Given the description of an element on the screen output the (x, y) to click on. 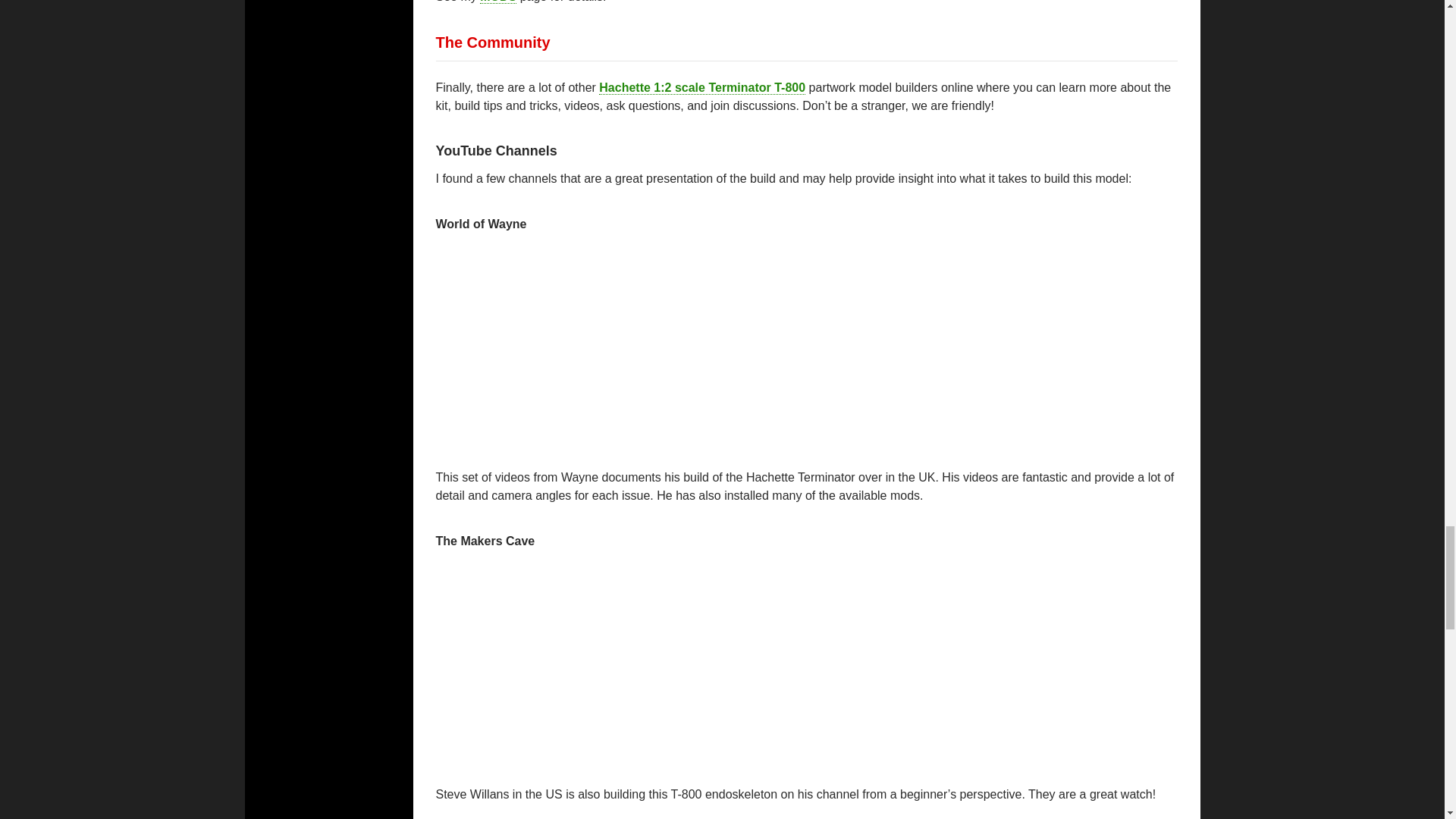
T-800 Agora Models Build (614, 660)
Build the Terminator - Part 1 - The LED Eyes and Sockets (614, 343)
